Given the description of an element on the screen output the (x, y) to click on. 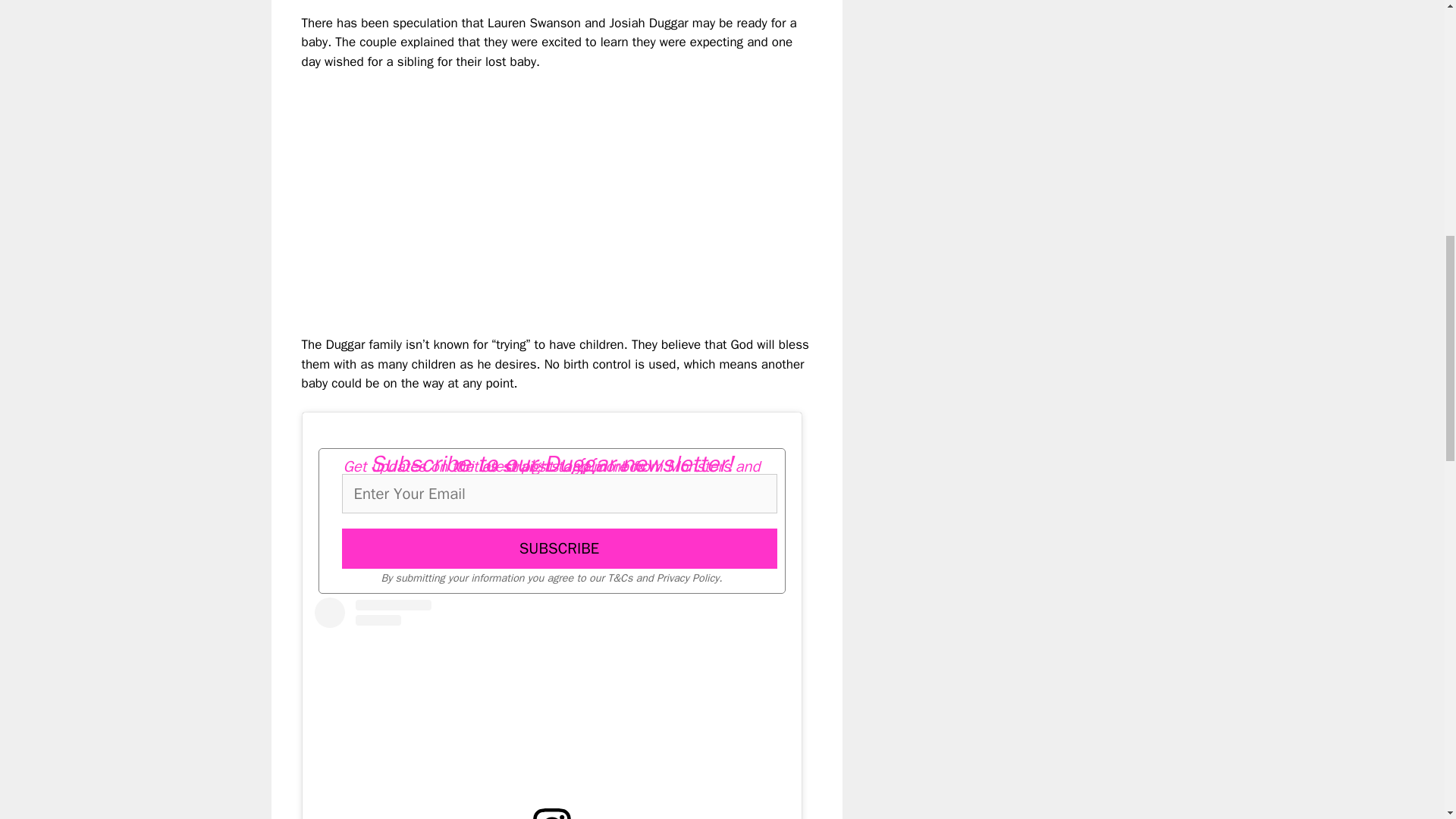
SUBSCRIBE (558, 548)
SUBSCRIBE (558, 548)
YouTube video player (513, 190)
